Given the description of an element on the screen output the (x, y) to click on. 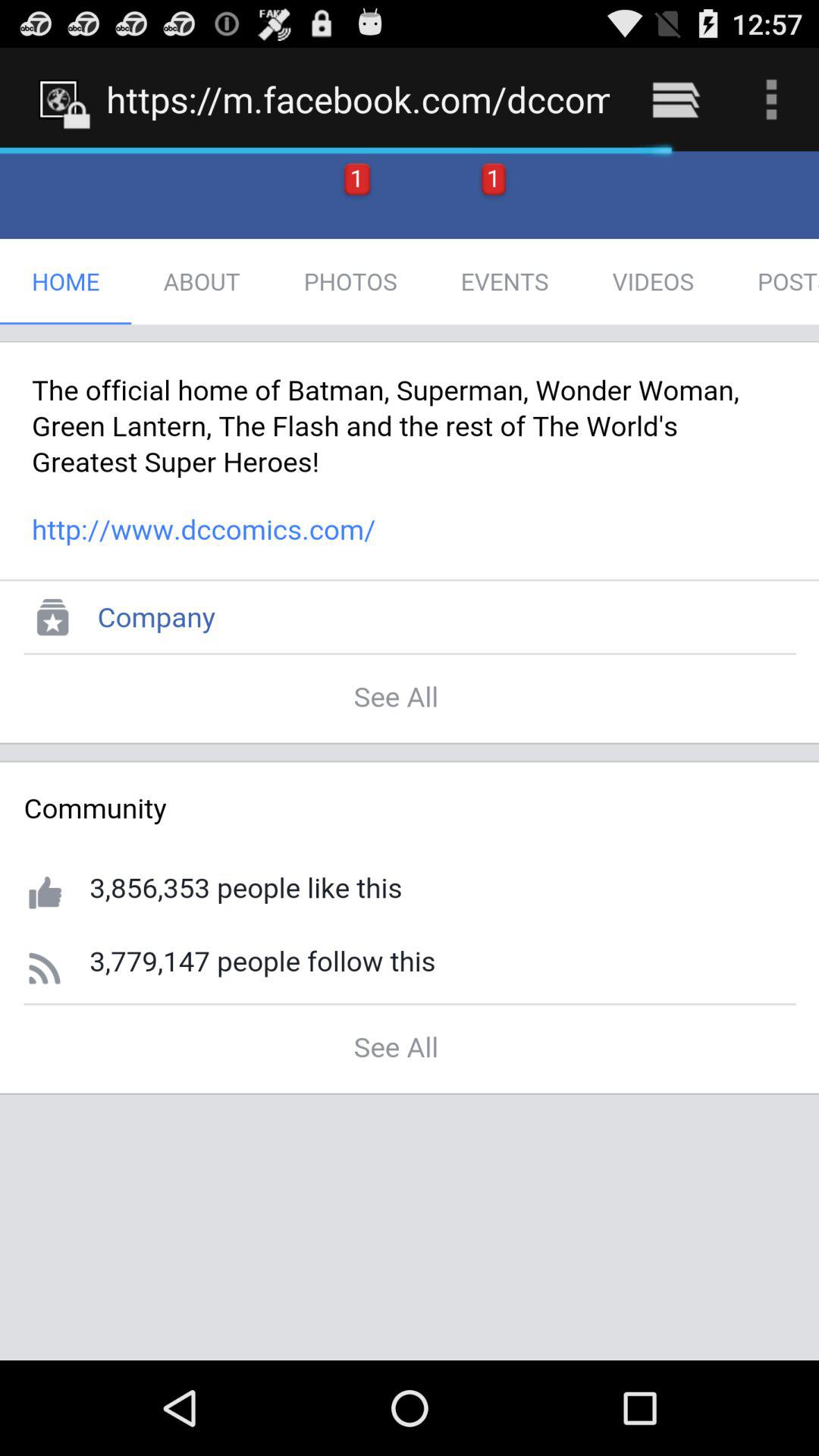
select the item at the center (409, 755)
